Given the description of an element on the screen output the (x, y) to click on. 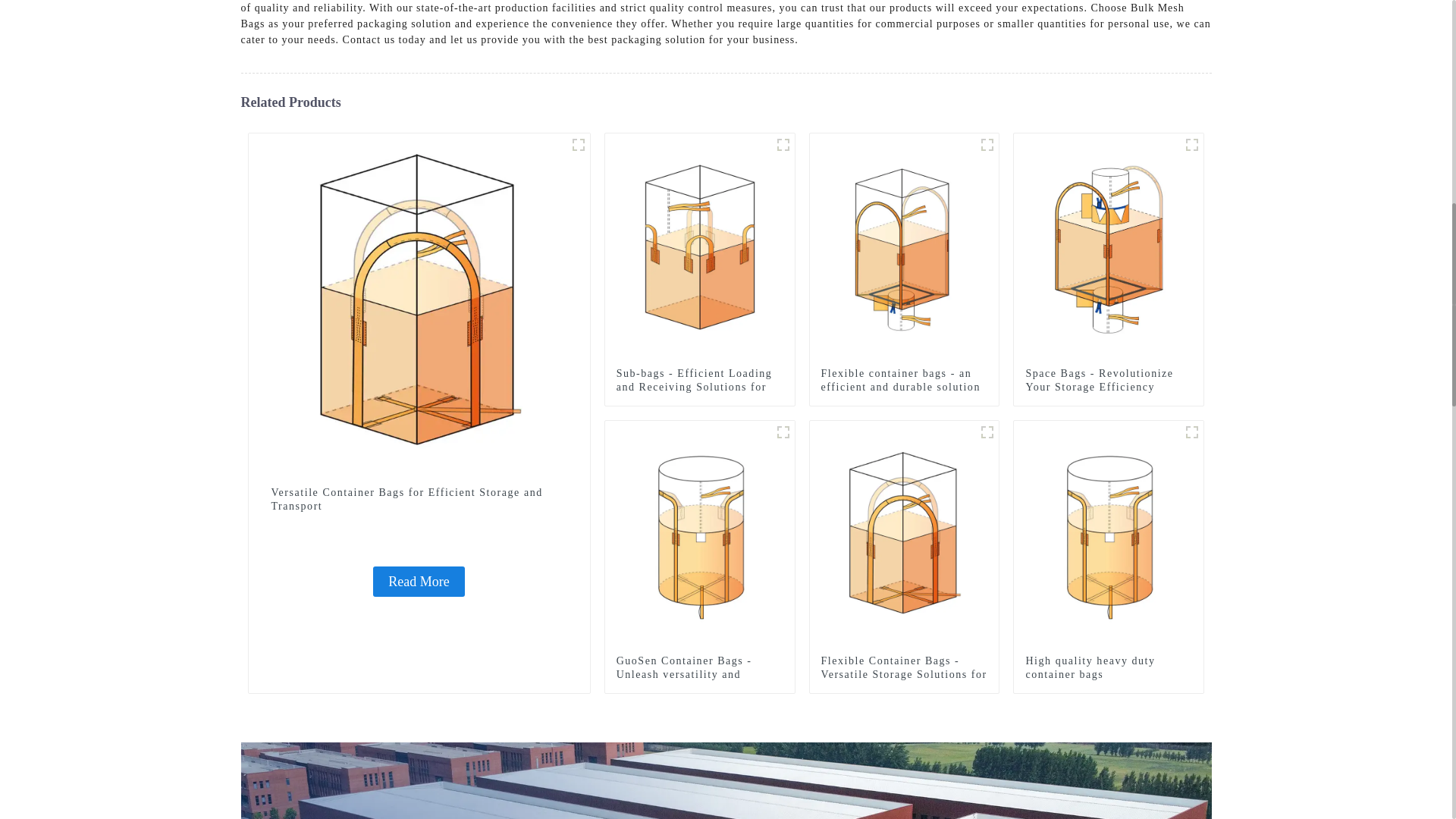
Space Bags - Revolutionize Your Storage Efficiency (1108, 379)
Versatile Container Bags for Efficient Storage and Transport (418, 302)
Versatile Container Bags for Efficient Storage and Transport (418, 499)
Space Bags - Revolutionize Your Storage Efficiency (1108, 246)
Space Bags - Revolutionize Your Storage Efficiency (1108, 379)
